Given the description of an element on the screen output the (x, y) to click on. 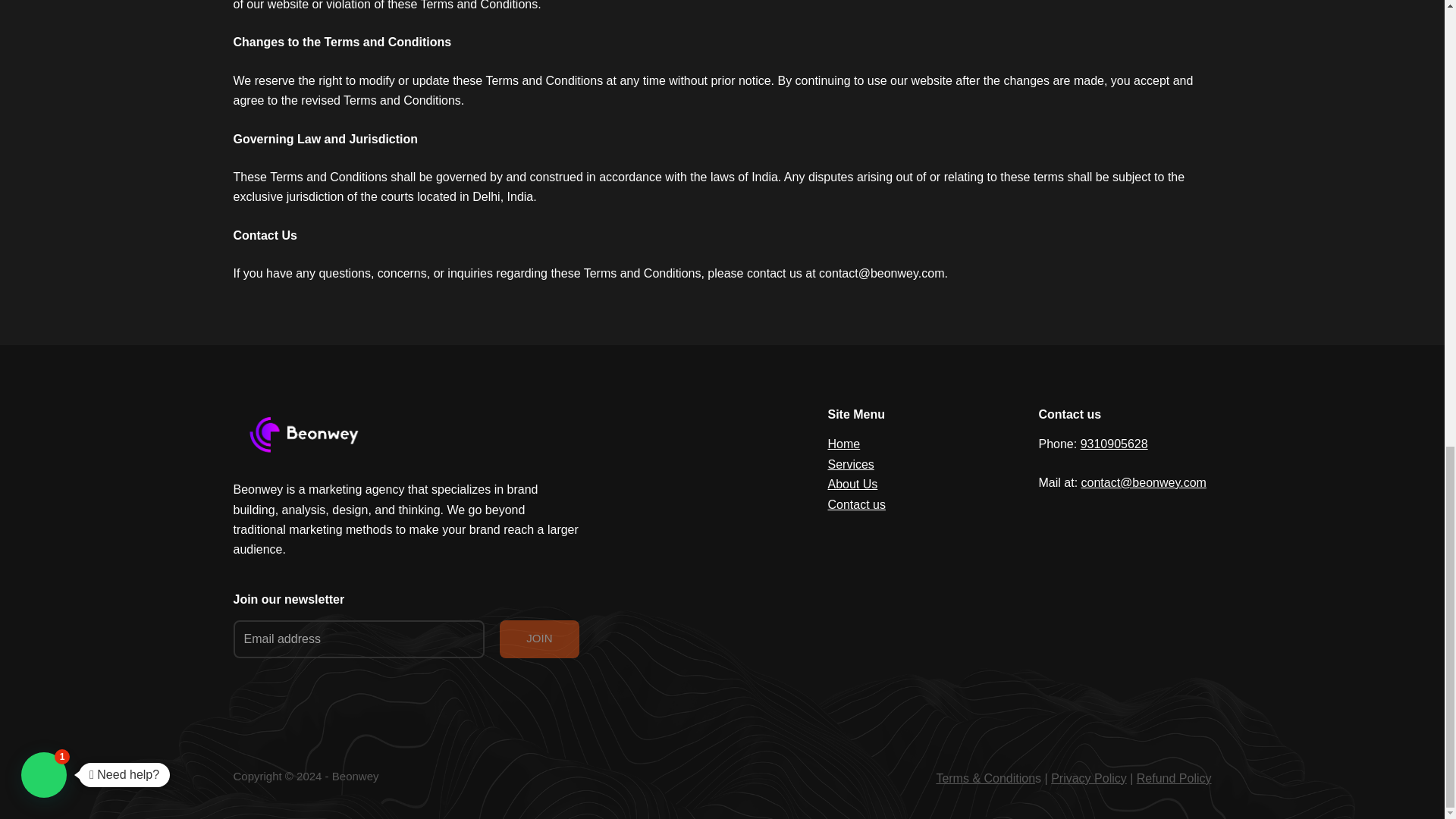
Privacy Policy (1088, 778)
Contact us (856, 504)
Refund Policy (1174, 778)
9310905628 (1114, 443)
Services (851, 463)
About Us (852, 483)
Home (844, 443)
JOIN (538, 638)
